Given the description of an element on the screen output the (x, y) to click on. 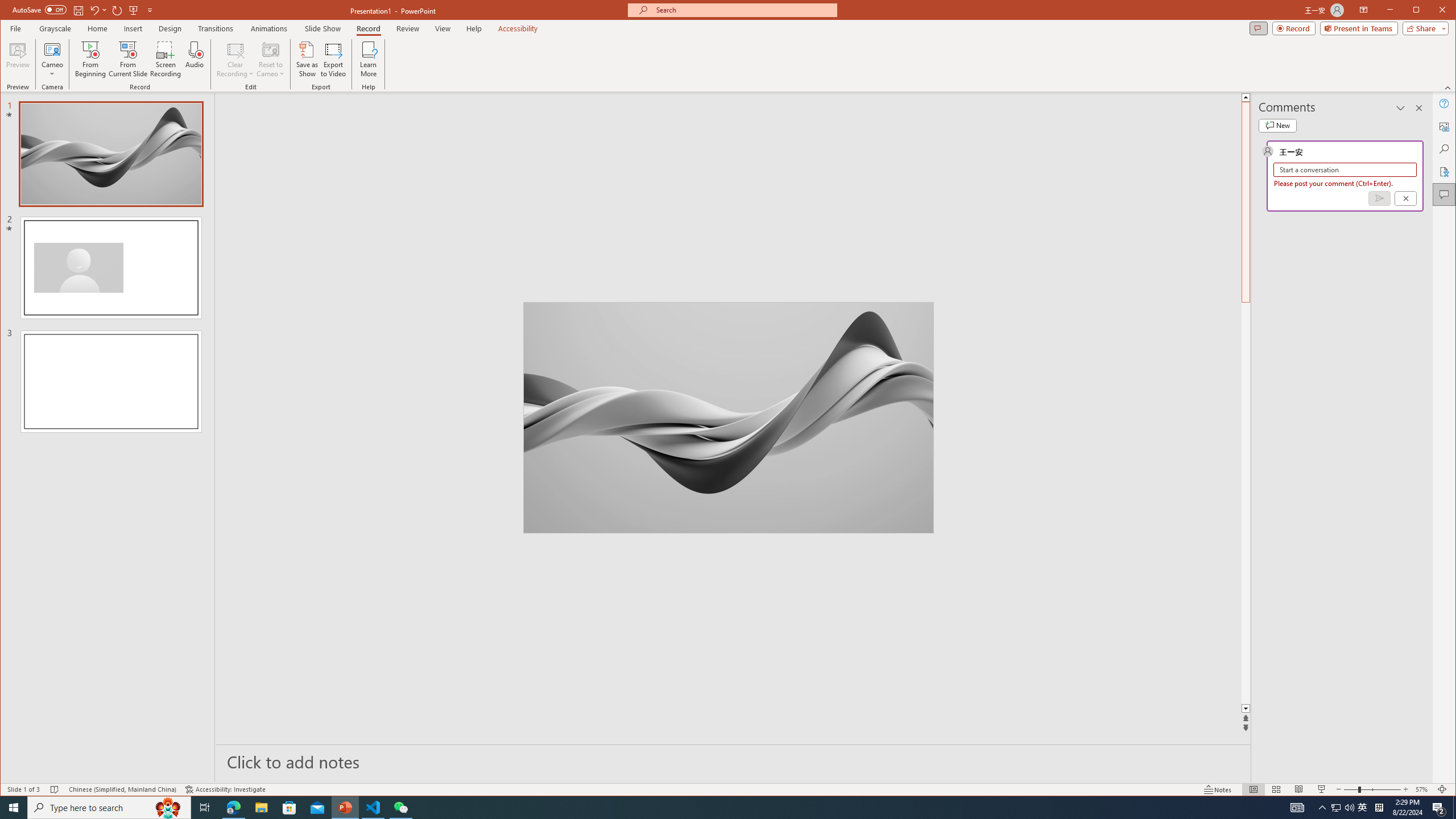
Clear Recording (234, 59)
Grayscale (55, 28)
